Given the description of an element on the screen output the (x, y) to click on. 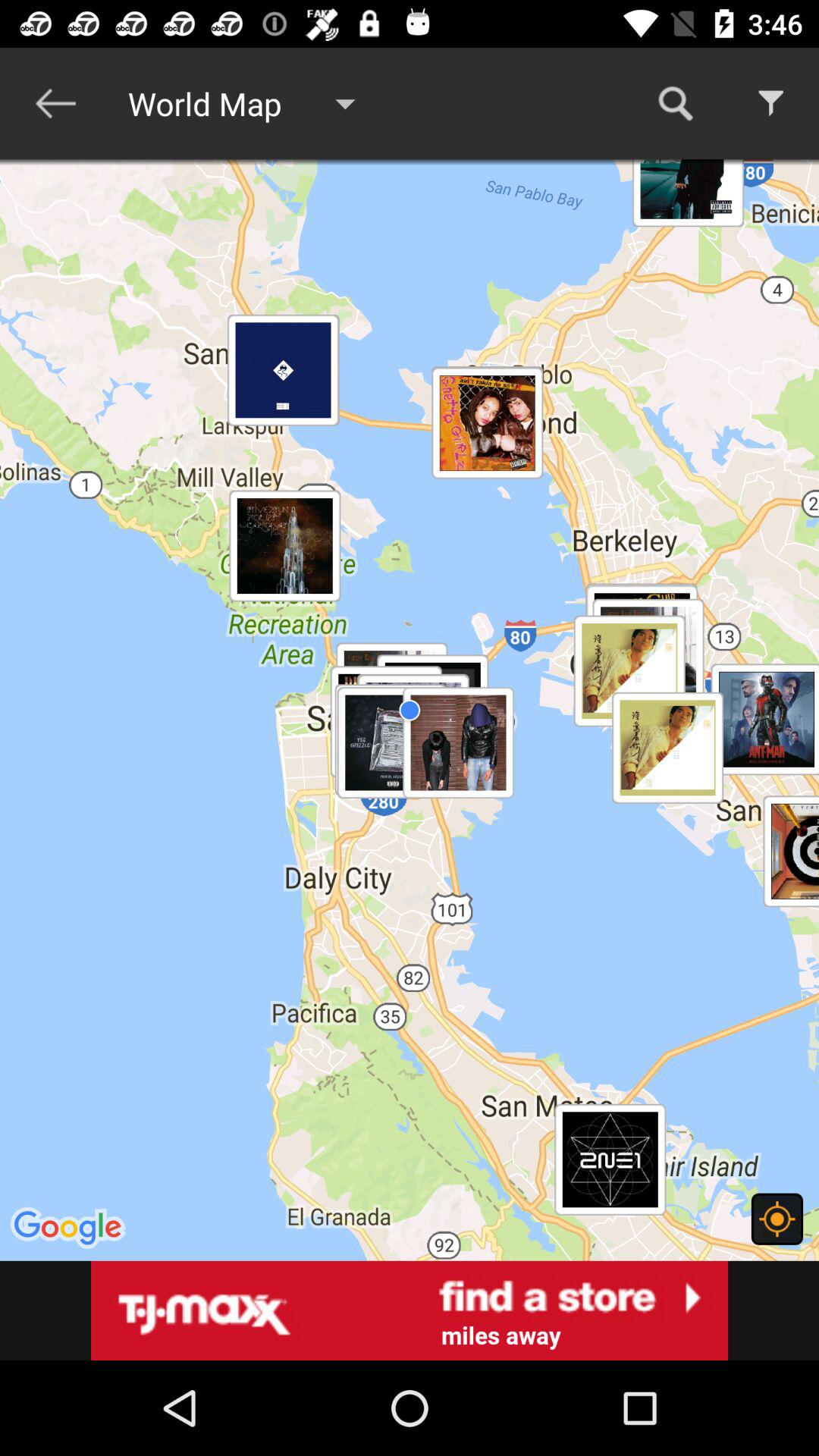
click icon to the left of world map (55, 103)
